Given the description of an element on the screen output the (x, y) to click on. 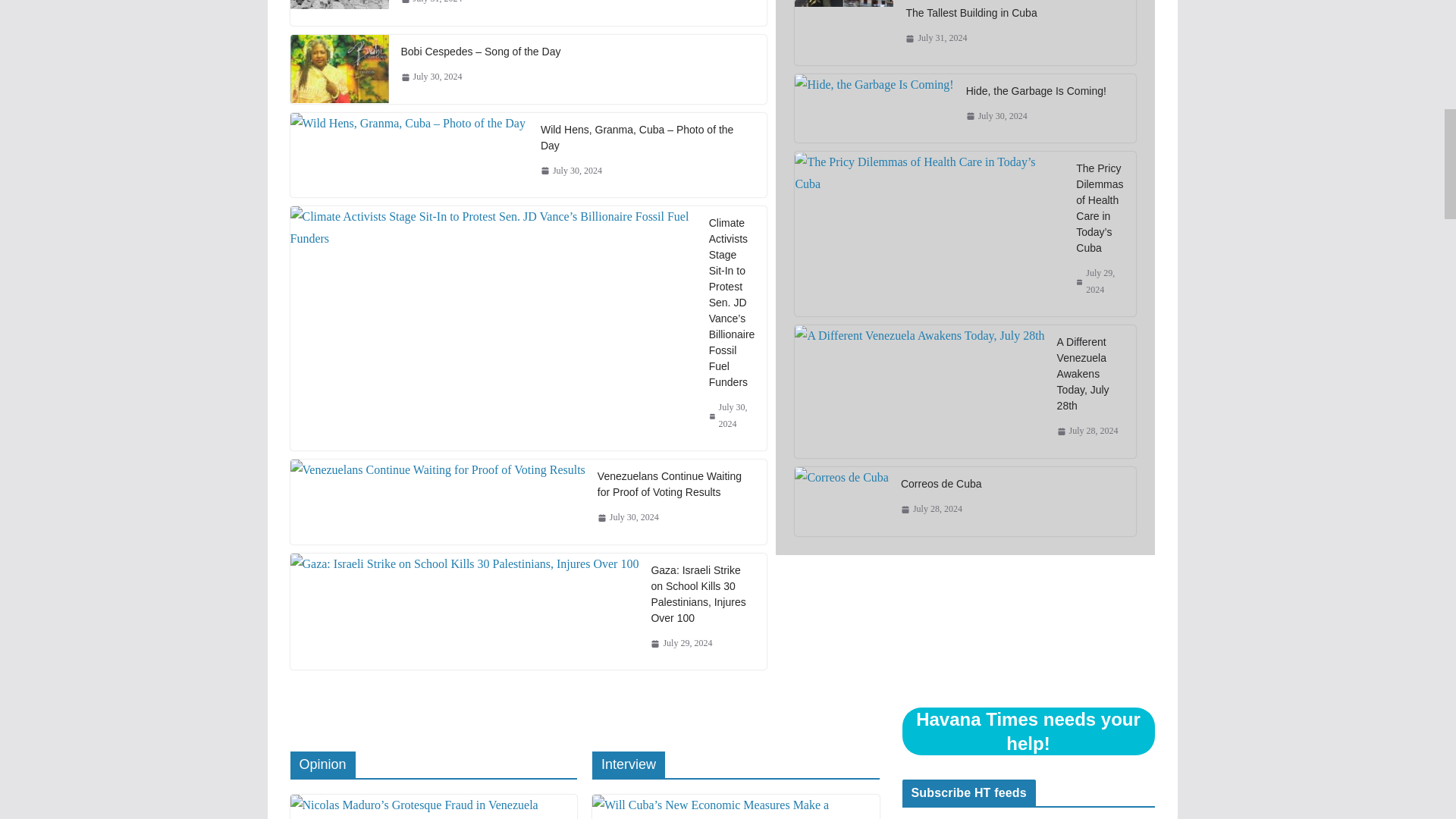
1:37 pm (430, 3)
July 31, 2024 (430, 3)
July 30, 2024 (627, 517)
July 30, 2024 (430, 76)
4:04 pm (430, 76)
July 30, 2024 (571, 170)
Venezuelans Continue Waiting for Proof of Voting Results (675, 484)
July 30, 2024 (732, 415)
